Given the description of an element on the screen output the (x, y) to click on. 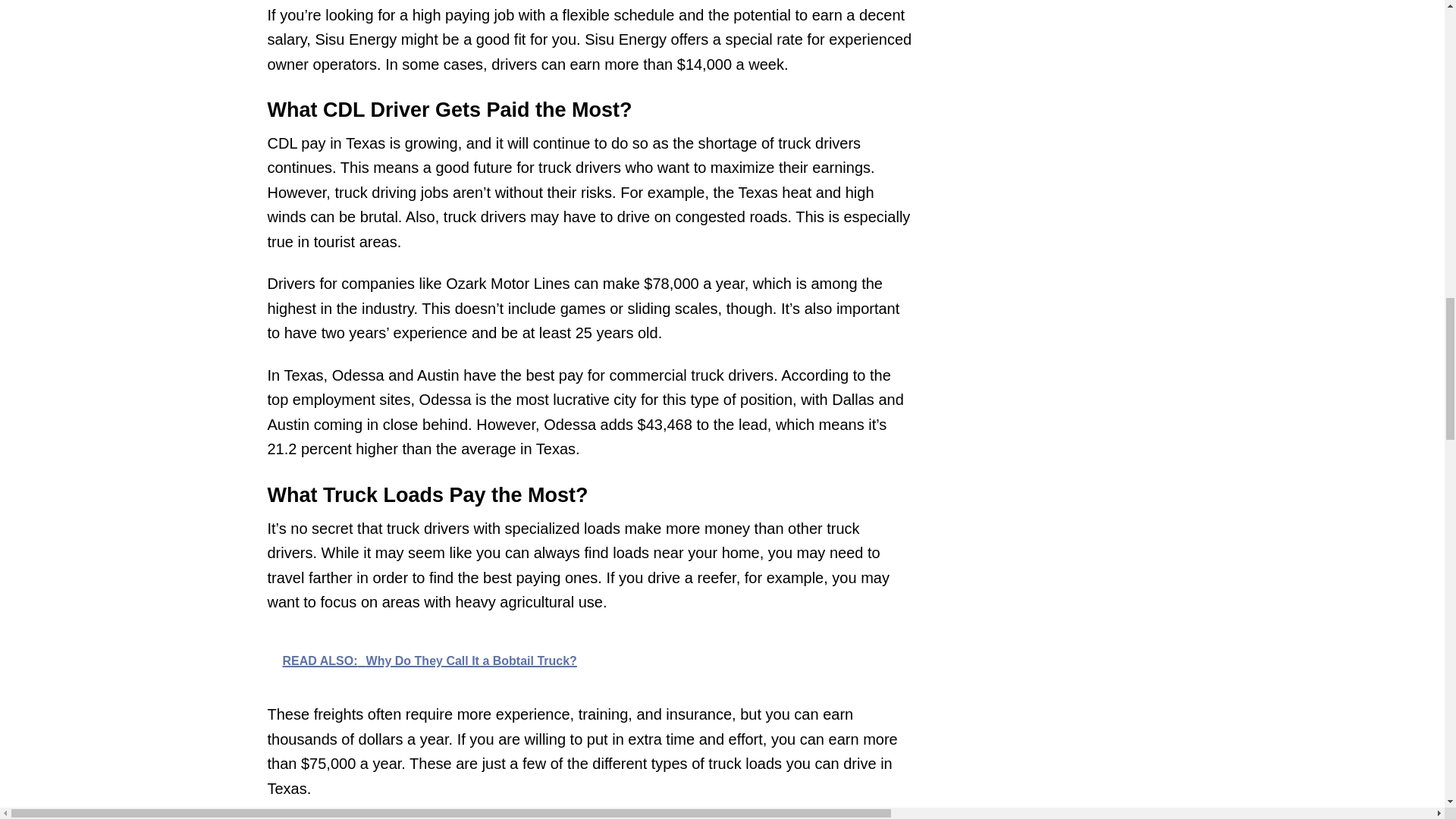
READ ALSO:  Why Do They Call It a Bobtail Truck? (588, 659)
